Given the description of an element on the screen output the (x, y) to click on. 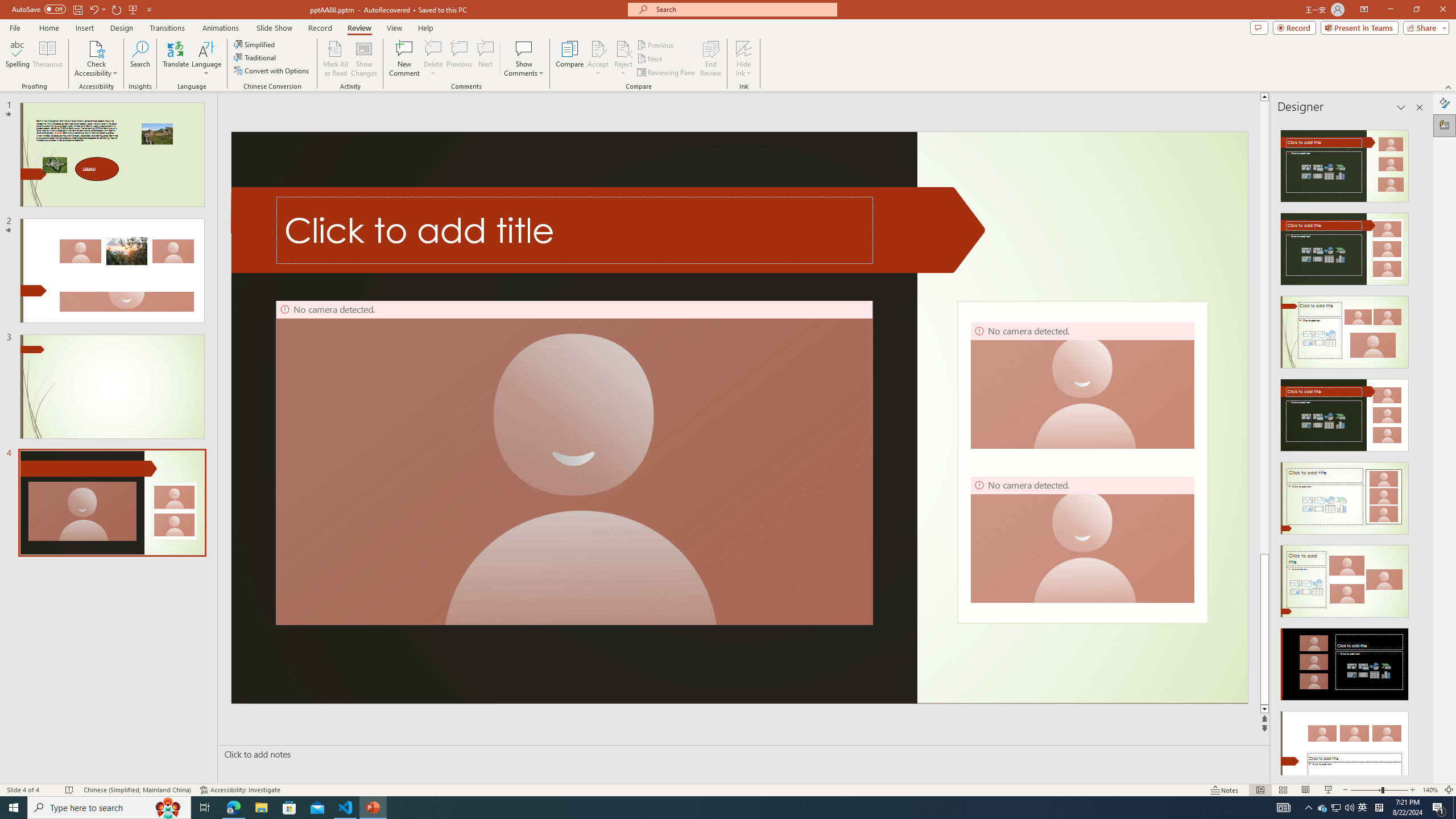
Title TextBox (574, 229)
Accept Change (598, 48)
Design Idea (1344, 743)
Camera 5, No camera detected. (574, 462)
Reject Change (622, 48)
Format Background (1444, 102)
Mark All as Read (335, 58)
New Comment (403, 58)
Class: NetUIScrollBar (1418, 447)
Show Comments (524, 48)
